Given the description of an element on the screen output the (x, y) to click on. 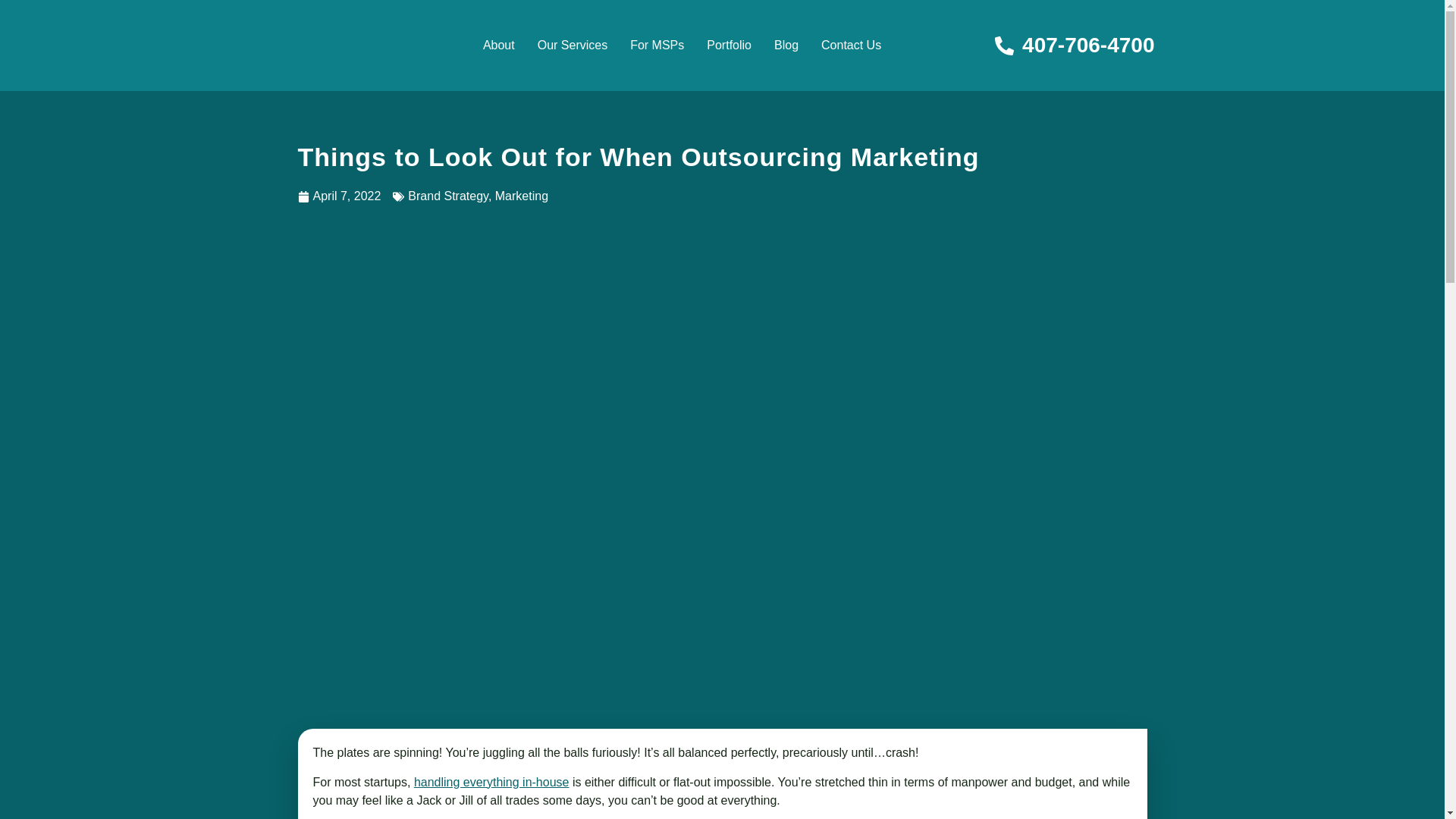
Blog (785, 45)
Portfolio (728, 45)
Contact Us (850, 45)
For MSPs (656, 45)
Our Services (571, 45)
About (498, 45)
